Given the description of an element on the screen output the (x, y) to click on. 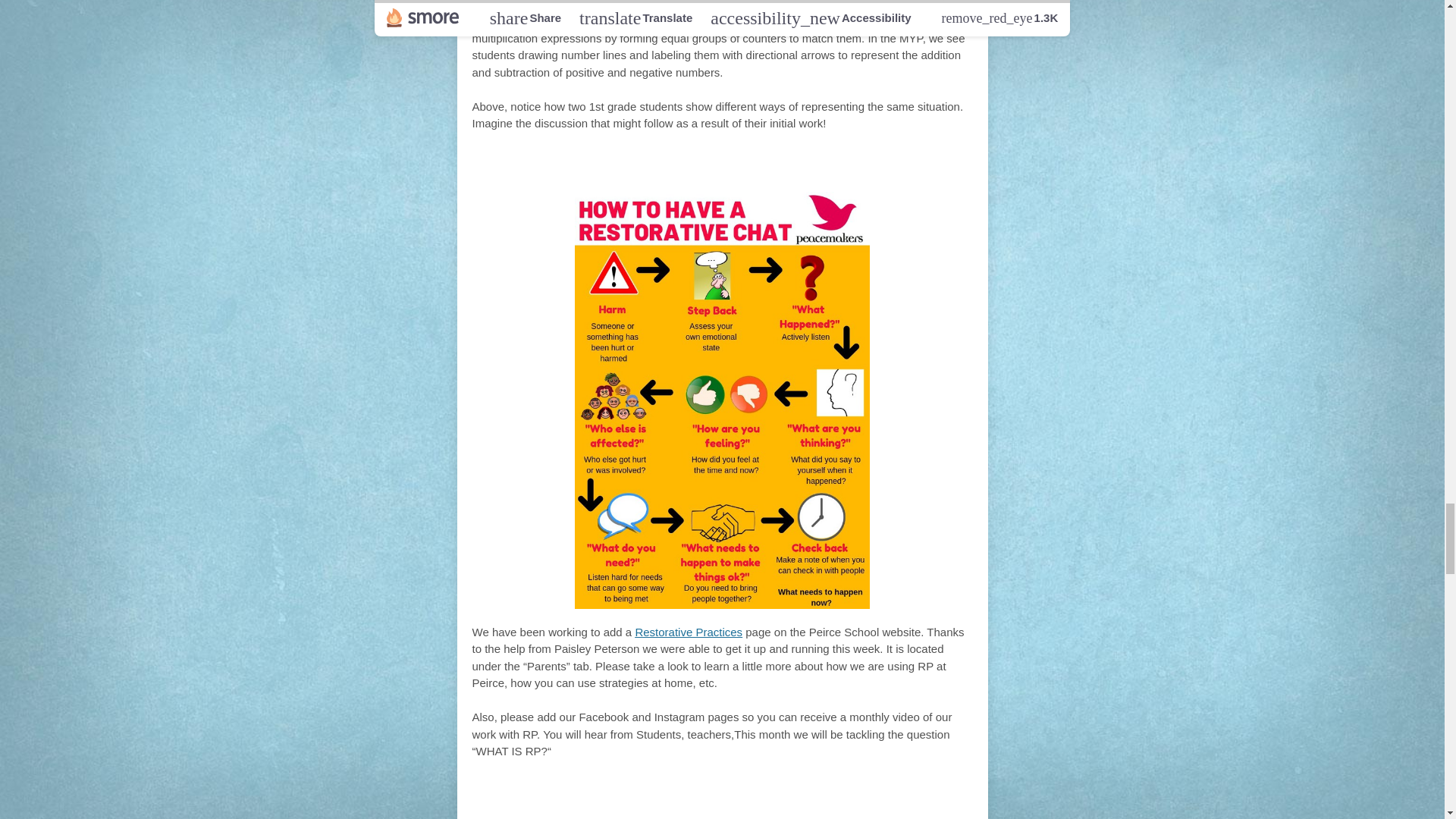
Restorative Practices (688, 631)
